Given the description of an element on the screen output the (x, y) to click on. 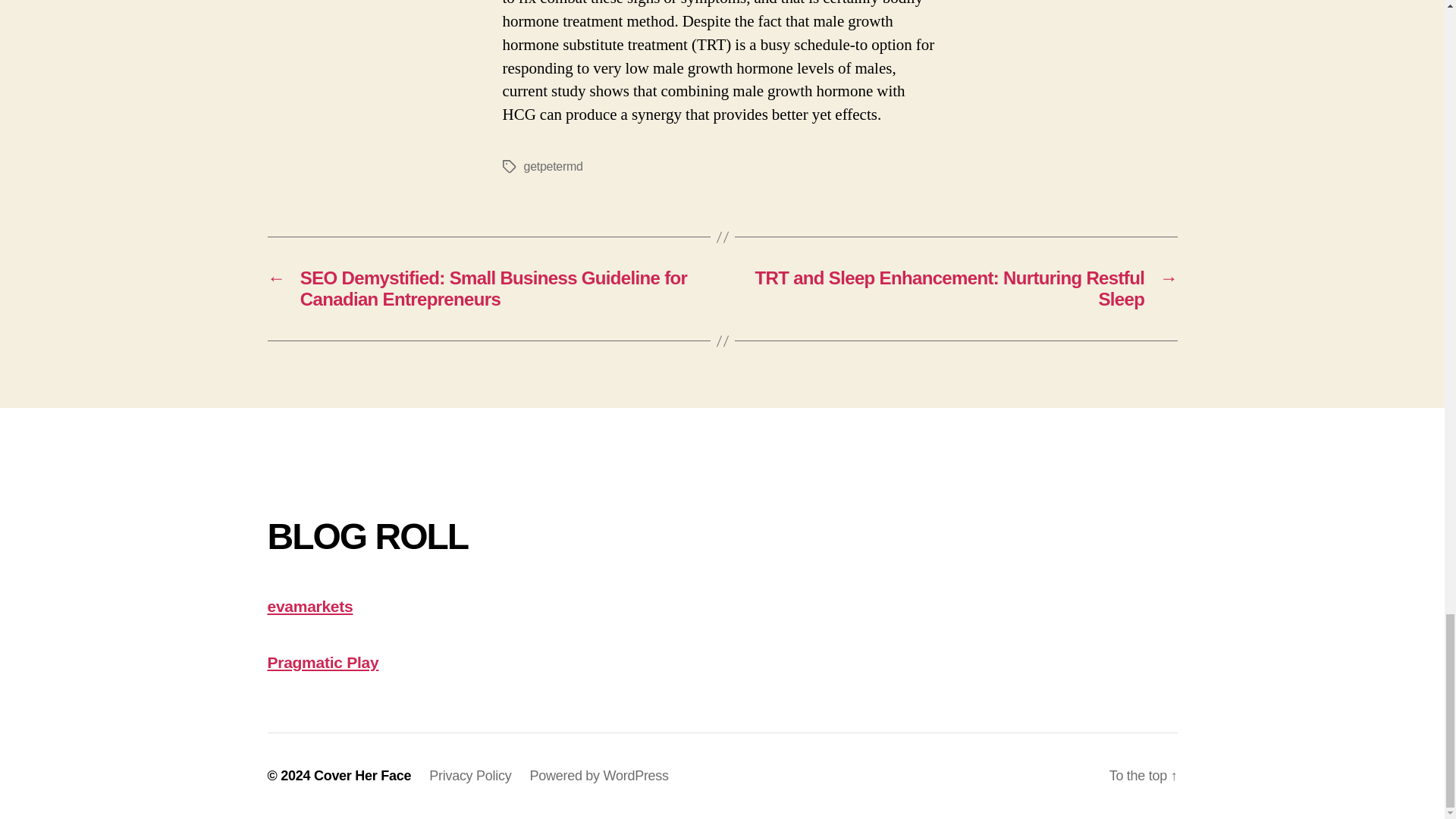
evamarkets (309, 606)
Powered by WordPress (598, 775)
getpetermd (552, 165)
Cover Her Face (362, 775)
Pragmatic Play (322, 661)
Privacy Policy (470, 775)
